Given the description of an element on the screen output the (x, y) to click on. 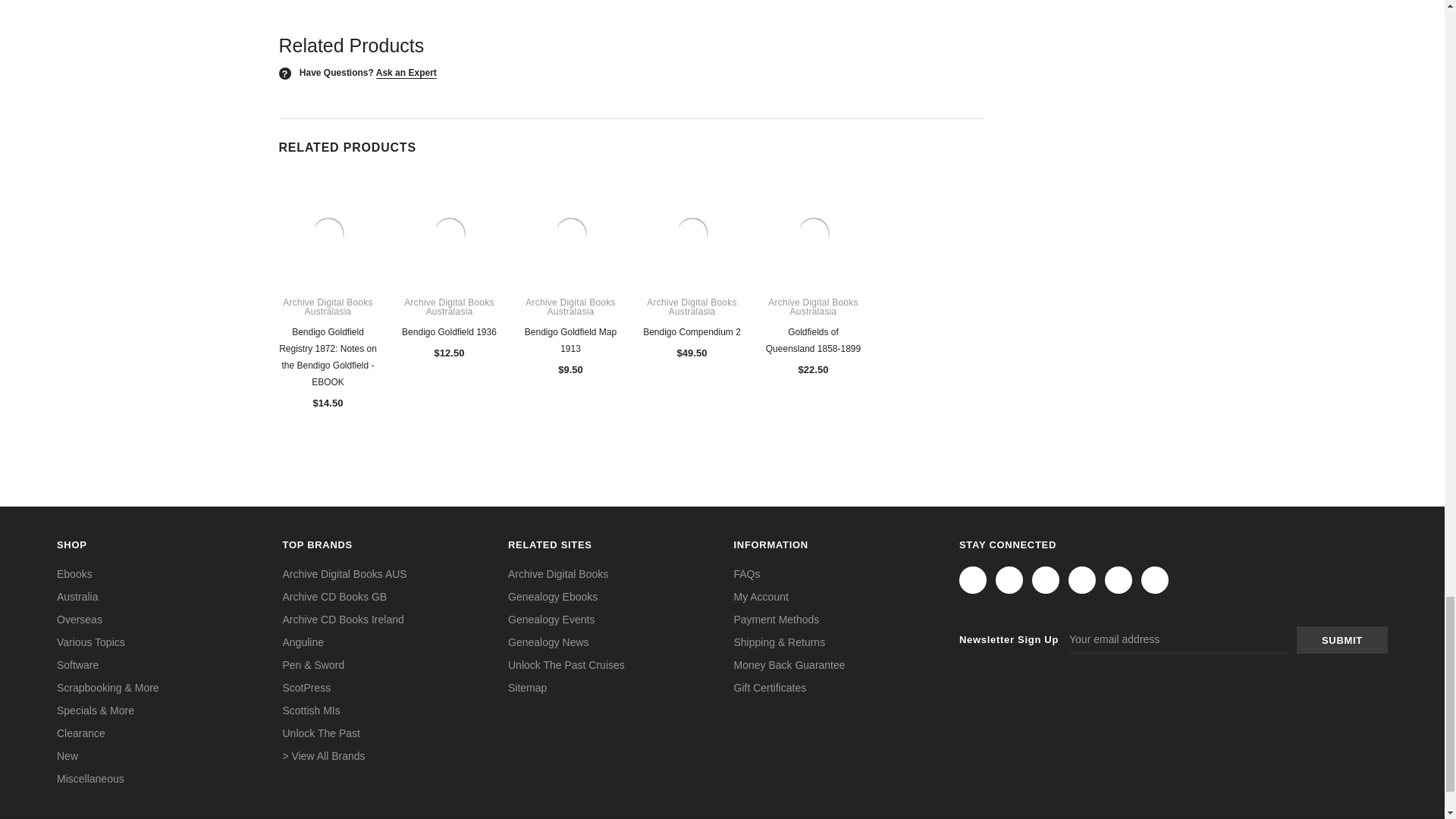
Bendigo Goldfield 1936 (449, 233)
Submit (1342, 639)
